Given the description of an element on the screen output the (x, y) to click on. 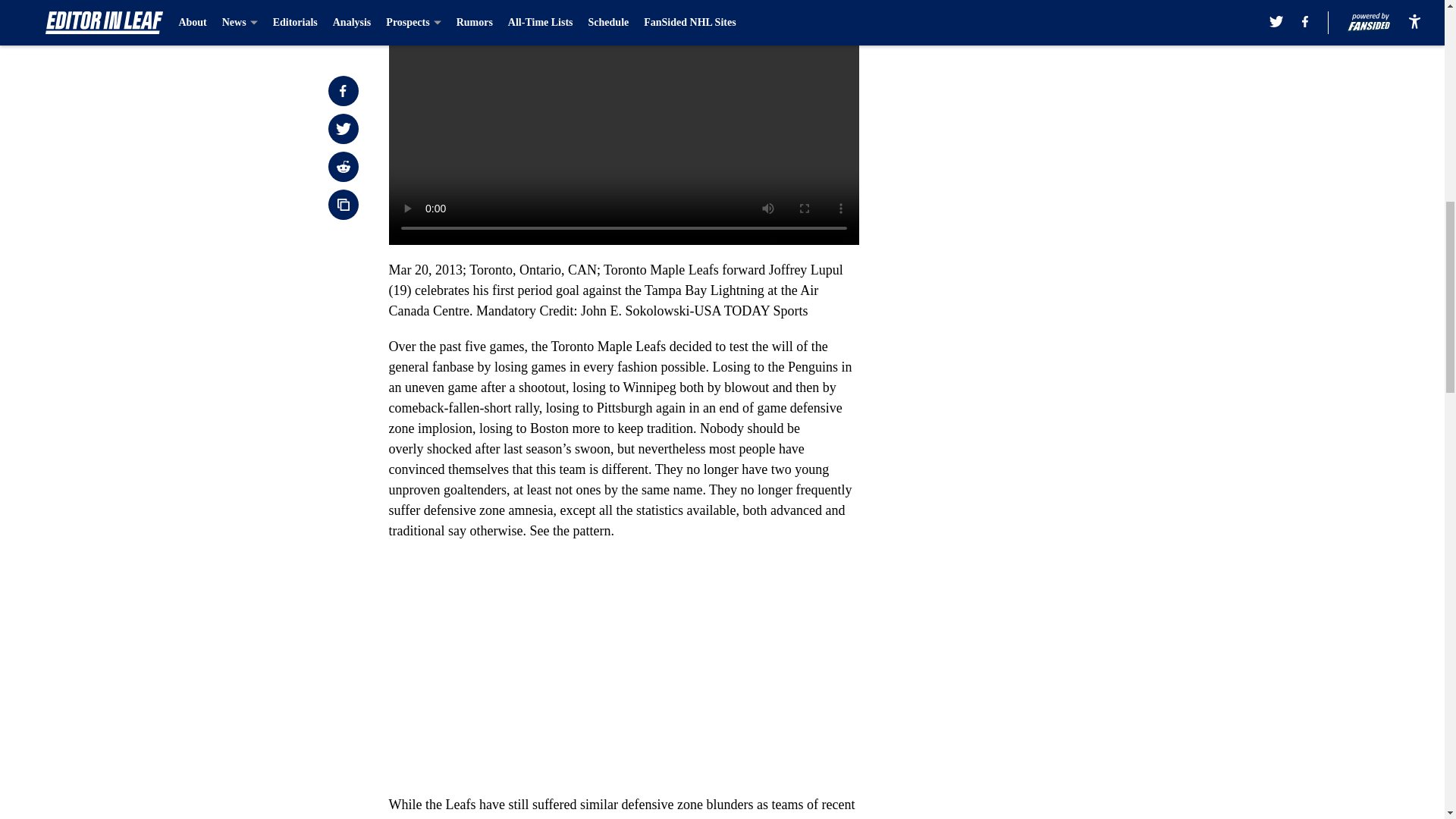
3rd party ad content (1047, 294)
3rd party ad content (1047, 84)
